Given the description of an element on the screen output the (x, y) to click on. 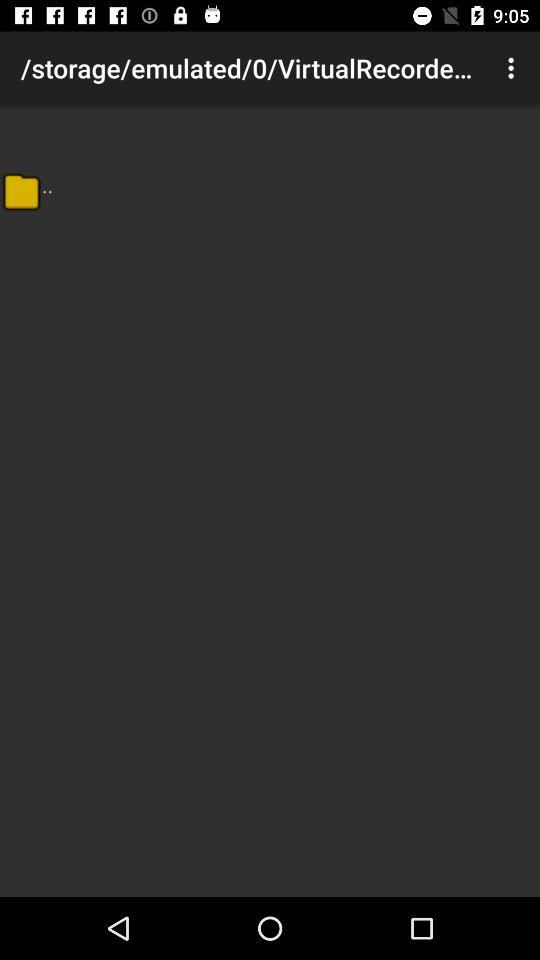
select the item to the left of .. item (21, 191)
